Given the description of an element on the screen output the (x, y) to click on. 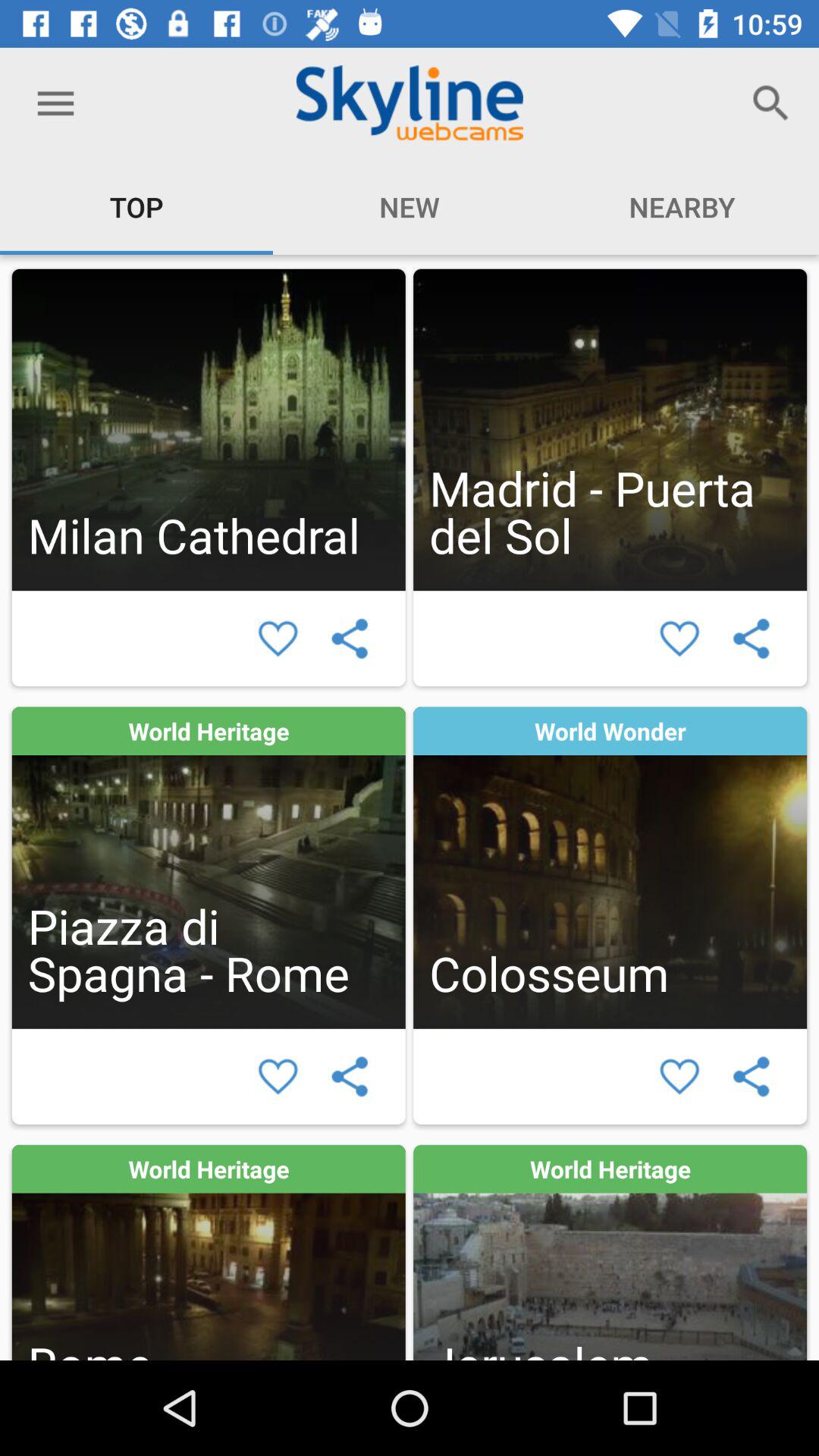
heart (679, 1076)
